Given the description of an element on the screen output the (x, y) to click on. 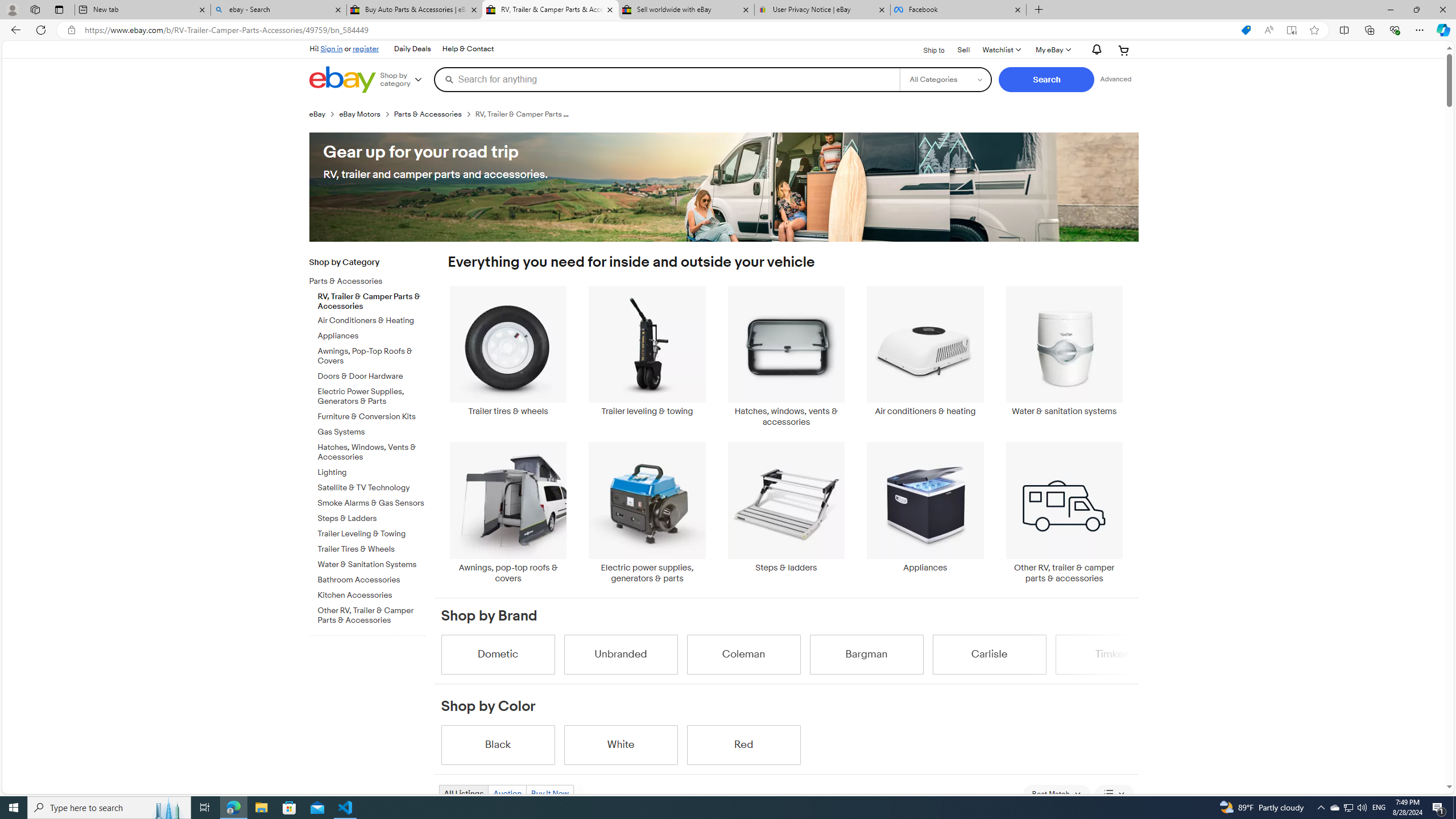
register (366, 48)
Hatches, windows, vents & accessories (786, 356)
Black (497, 744)
Daily Deals (411, 49)
Trailer Tires & Wheels (371, 547)
Buy Auto Parts & Accessories | eBay (414, 9)
Trailer tires & wheels (508, 356)
Search for anything (666, 78)
Electric Power Supplies, Generators & Parts (371, 394)
Dometic (497, 653)
RV, Trailer & Camper Parts & Accessories for sale | eBay (550, 9)
Personal Profile (12, 9)
Read aloud this page (Ctrl+Shift+U) (1268, 29)
Water & Sanitation Systems (371, 562)
WatchlistExpand Watch List (1000, 49)
